Given the description of an element on the screen output the (x, y) to click on. 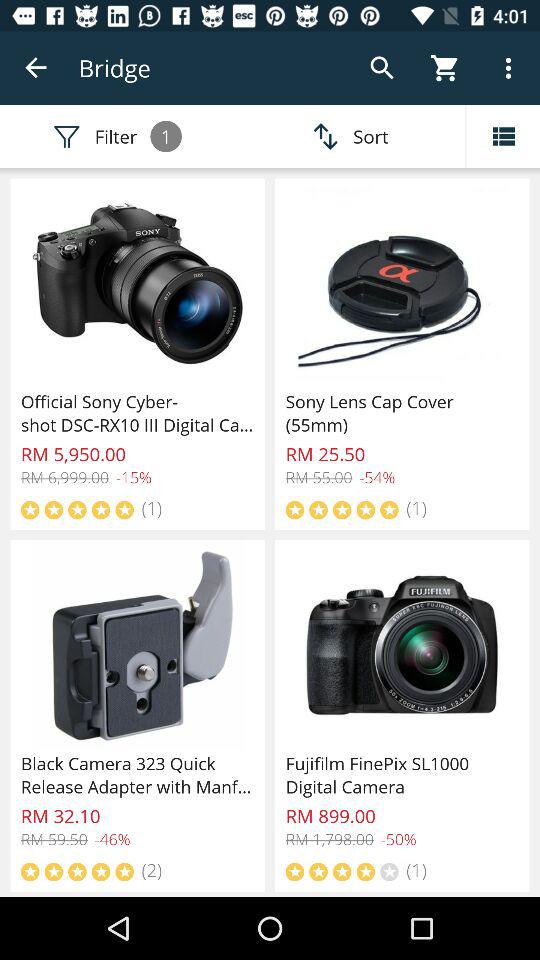
turn off icon next to the bridge icon (36, 68)
